Given the description of an element on the screen output the (x, y) to click on. 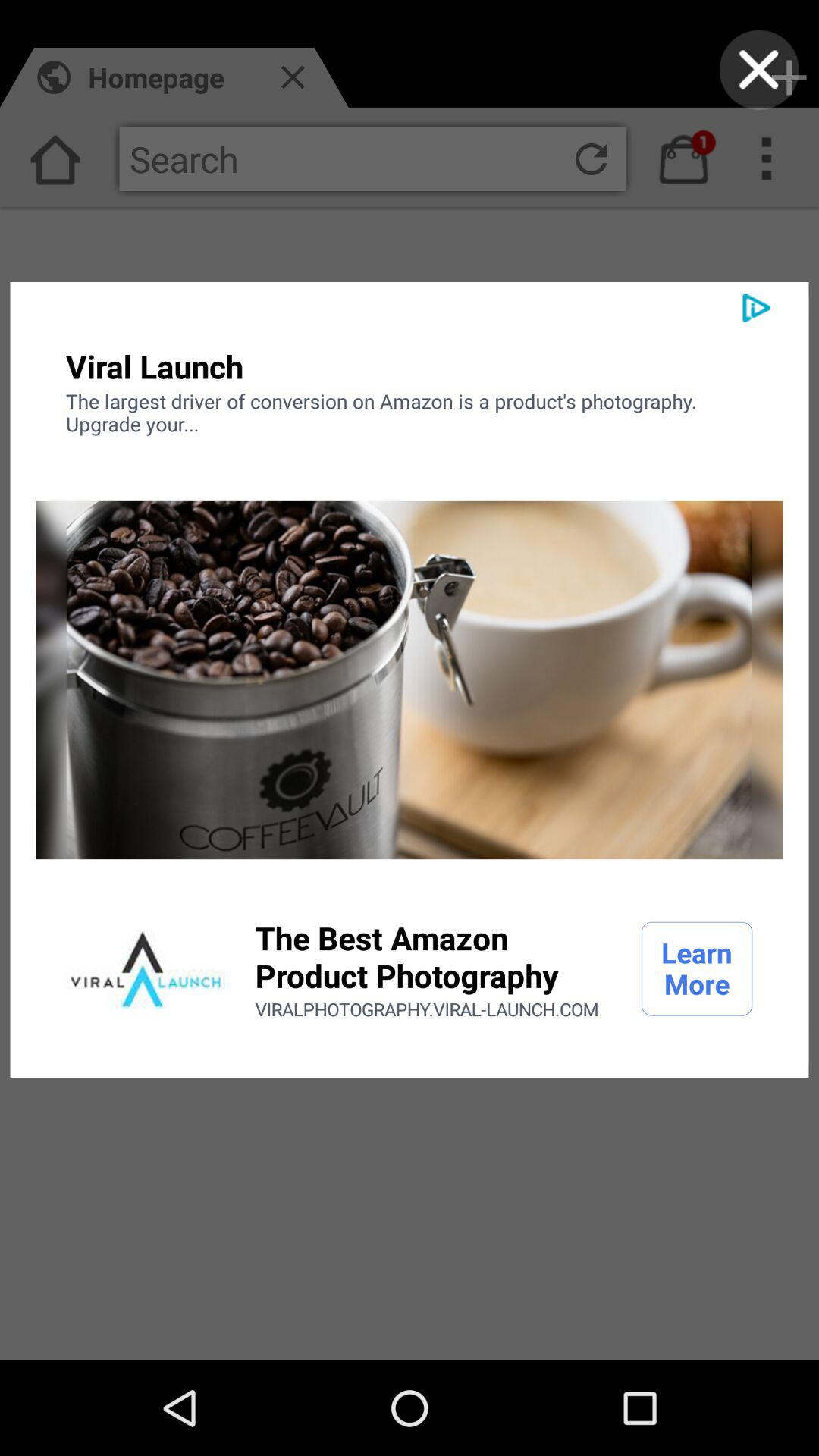
turn on the icon next to the the best amazon (145, 968)
